Given the description of an element on the screen output the (x, y) to click on. 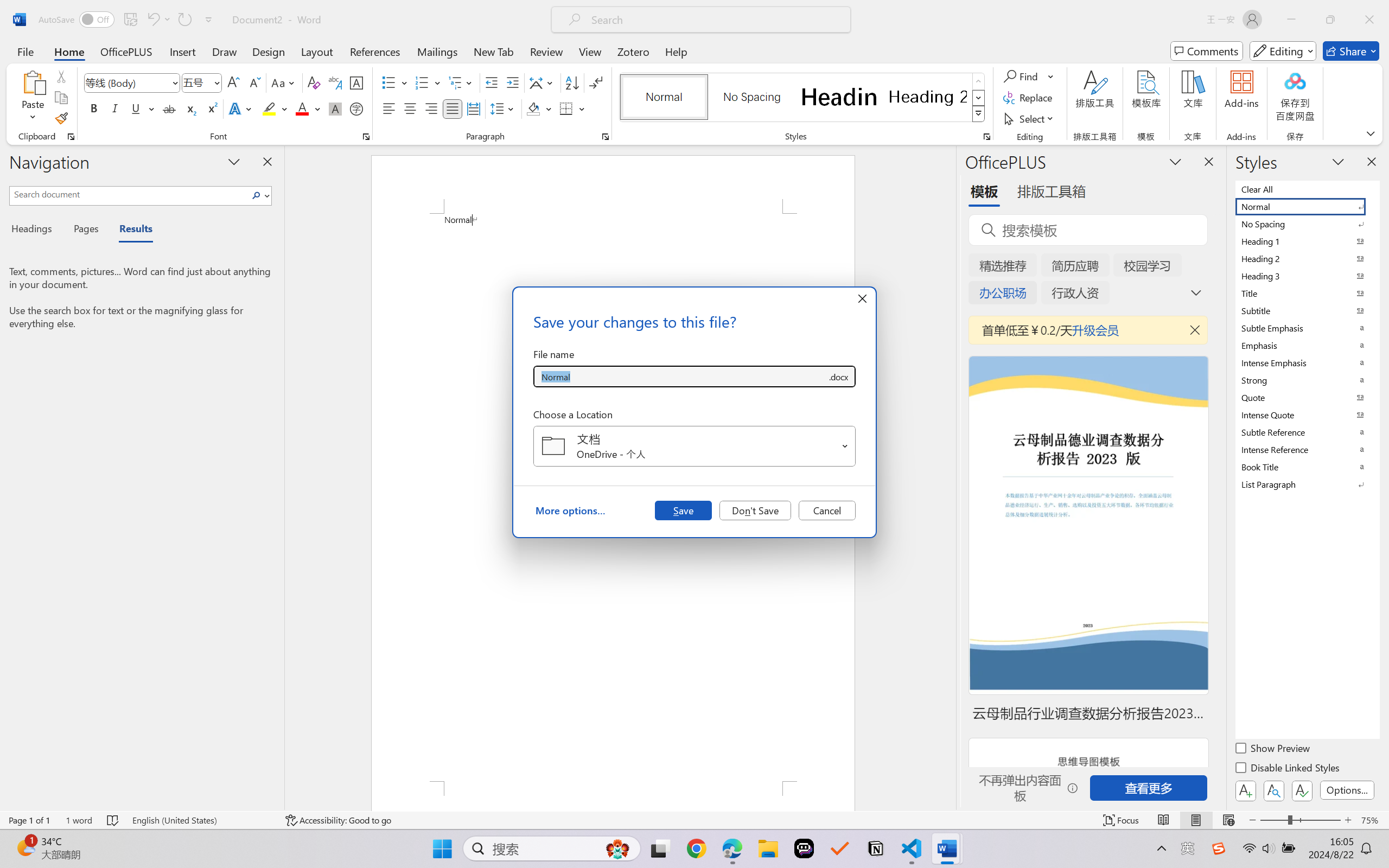
AutomationID: QuickStylesGallery (802, 97)
Align Right (431, 108)
Undo Apply Quick Style (158, 19)
AutomationID: BadgeAnchorLargeTicker (24, 847)
Font Size (196, 82)
Superscript (210, 108)
Align Left (388, 108)
Accessibility Checker Accessibility: Good to go (338, 819)
Home (69, 51)
Sort... (571, 82)
